Given the description of an element on the screen output the (x, y) to click on. 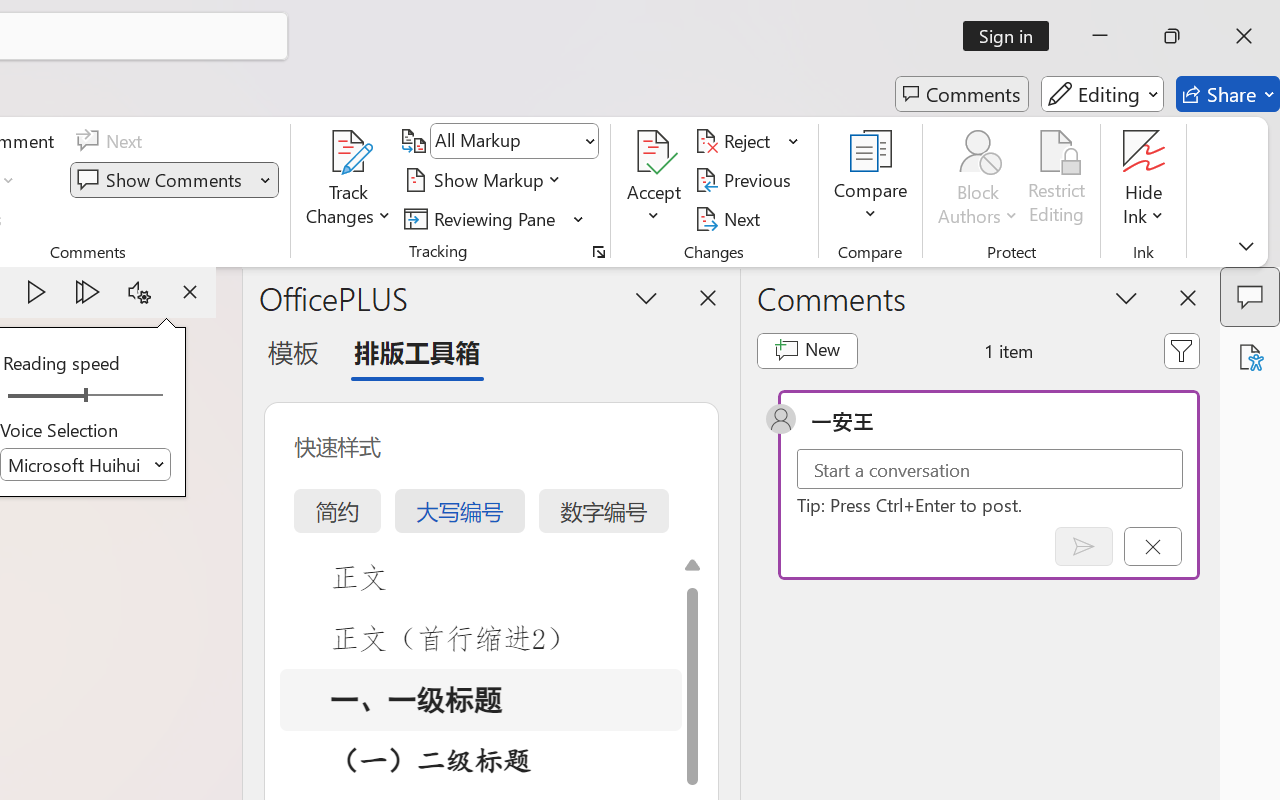
Show Comments (174, 179)
Settings (139, 292)
Voice Selection (85, 464)
Accessibility Assistant (1249, 357)
Show Comments (162, 179)
Block Authors (977, 151)
Cancel (1152, 546)
